Given the description of an element on the screen output the (x, y) to click on. 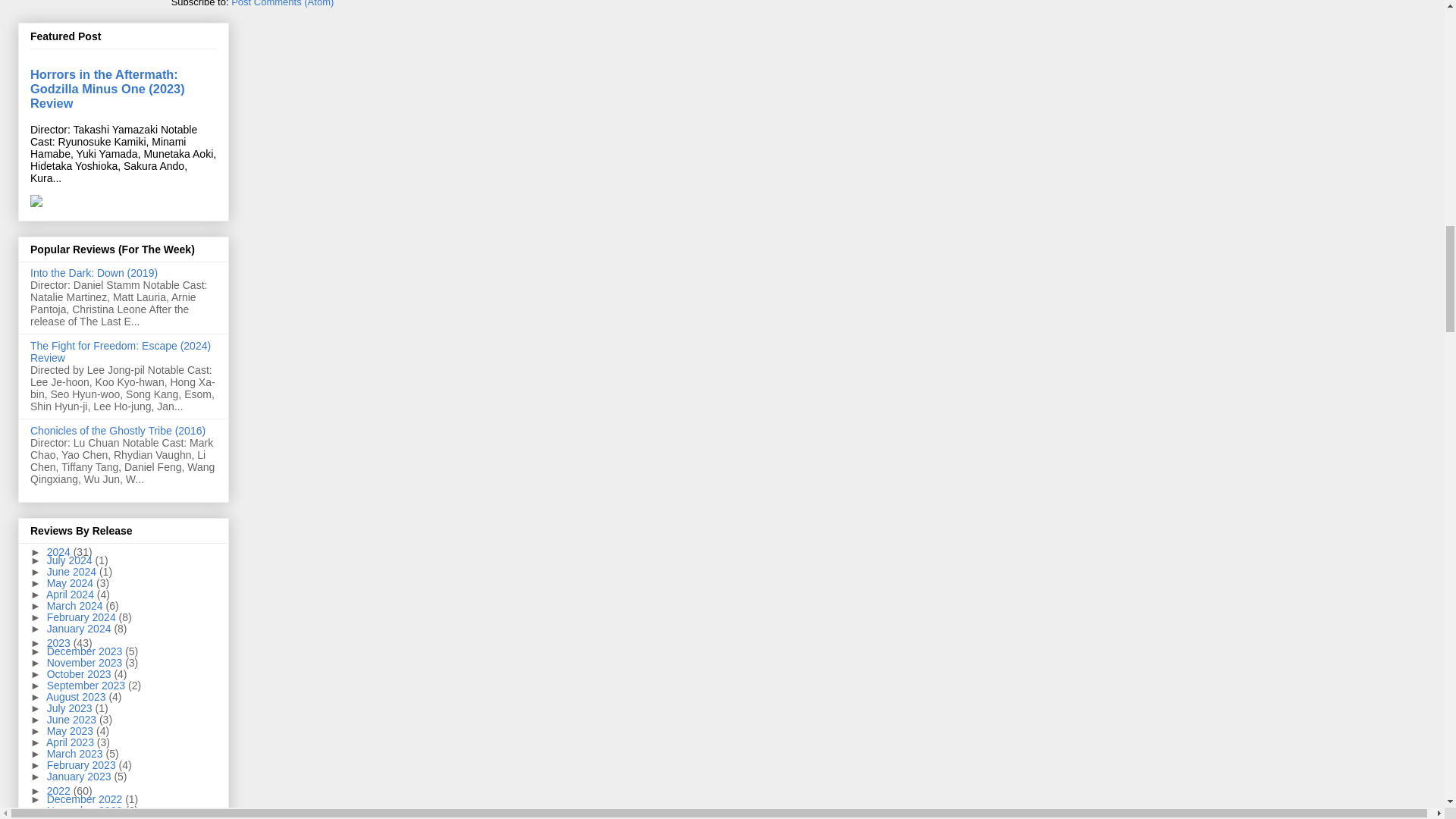
March 2024 (76, 605)
2024 (60, 551)
July 2024 (71, 560)
June 2024 (72, 571)
May 2024 (71, 582)
April 2024 (71, 594)
